Given the description of an element on the screen output the (x, y) to click on. 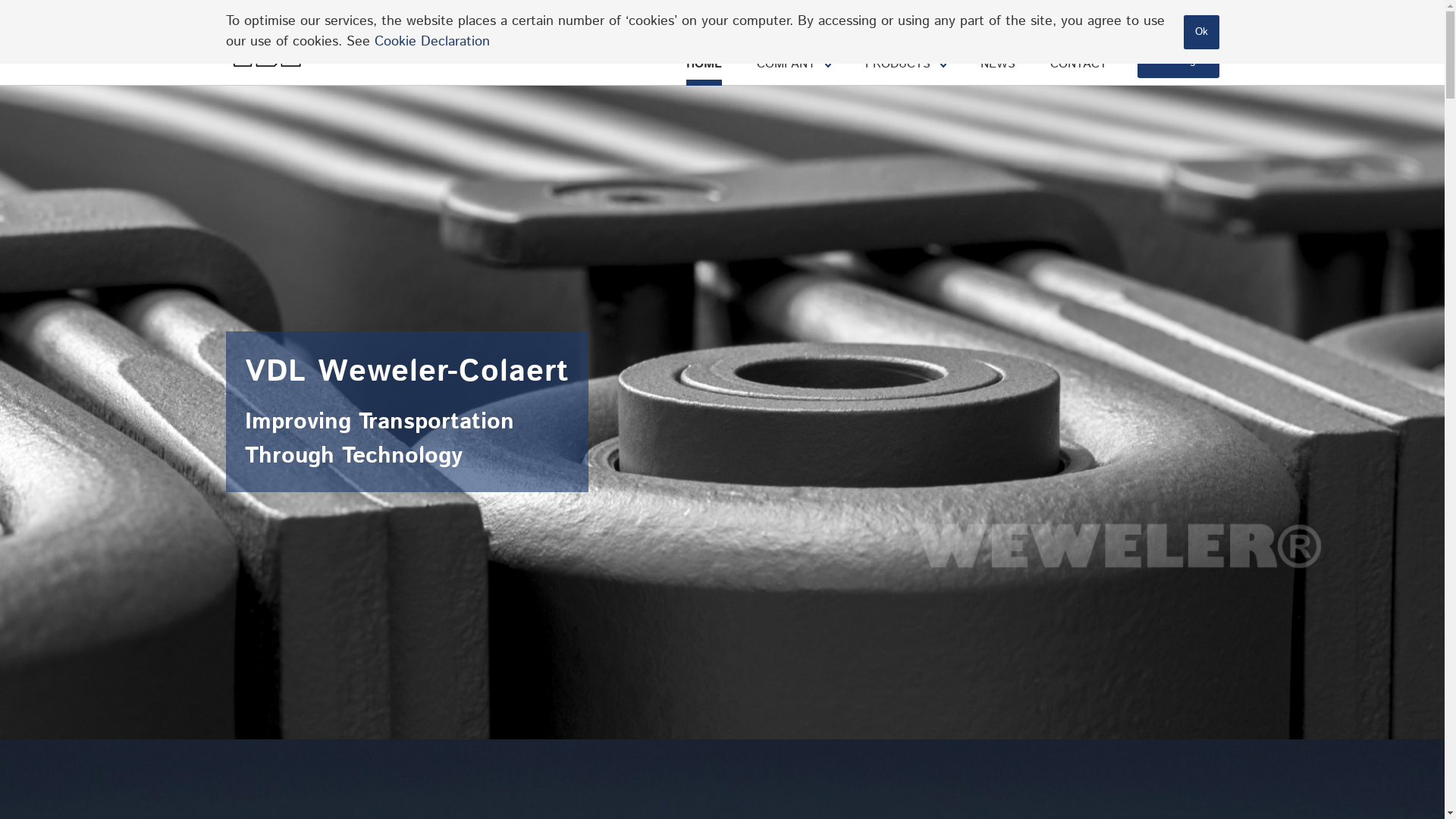
logo-colaert Element type: hover (276, 41)
EN Element type: text (1153, 21)
logo-colaert Element type: hover (275, 41)
ES Element type: text (1174, 21)
NL Element type: text (1091, 21)
NEWS Element type: text (996, 63)
COMPANY Element type: text (793, 63)
FR Element type: text (1111, 21)
Cookie Declaration  Element type: text (434, 41)
+32 (0)57 346 205 Element type: text (1017, 21)
RU Element type: text (1132, 21)
Search Element type: hover (1211, 21)
CONTACT Element type: text (1077, 63)
HOME Element type: text (703, 63)
E-Catalogue Element type: text (1178, 60)
PRODUCTS Element type: text (904, 63)
